Given the description of an element on the screen output the (x, y) to click on. 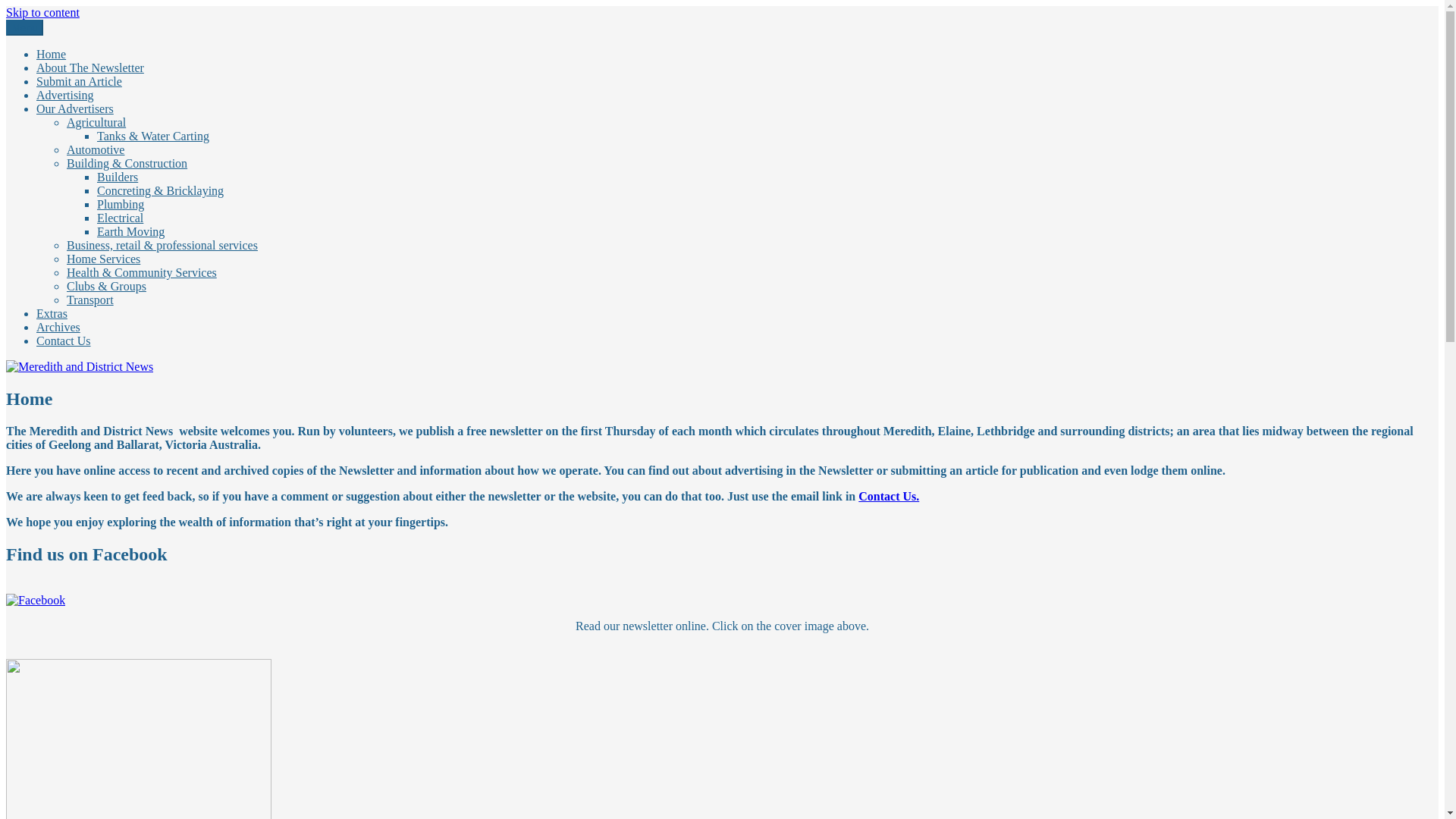
Our Advertisers Element type: text (74, 108)
Menu Element type: text (24, 27)
Builders Element type: text (117, 176)
Home Element type: text (50, 53)
Contact Us. Element type: text (888, 495)
Facebook Element type: hover (35, 600)
Tanks & Water Carting Element type: text (153, 135)
Health & Community Services Element type: text (141, 272)
Extras Element type: text (51, 313)
Building & Construction Element type: text (126, 162)
Contact Us Element type: text (63, 340)
Meredith and District News Element type: text (73, 37)
Automotive Element type: text (95, 149)
Business, retail & professional services Element type: text (161, 244)
Advertising Element type: text (65, 94)
Submit an Article Element type: text (79, 81)
Skip to content Element type: text (42, 12)
Earth Moving Element type: text (130, 231)
Home Services Element type: text (103, 258)
Concreting & Bricklaying Element type: text (160, 190)
Transport Element type: text (89, 299)
Plumbing Element type: text (120, 203)
About The Newsletter Element type: text (90, 67)
Clubs & Groups Element type: text (106, 285)
Archives Element type: text (58, 326)
Electrical Element type: text (120, 217)
Agricultural Element type: text (95, 122)
